Given the description of an element on the screen output the (x, y) to click on. 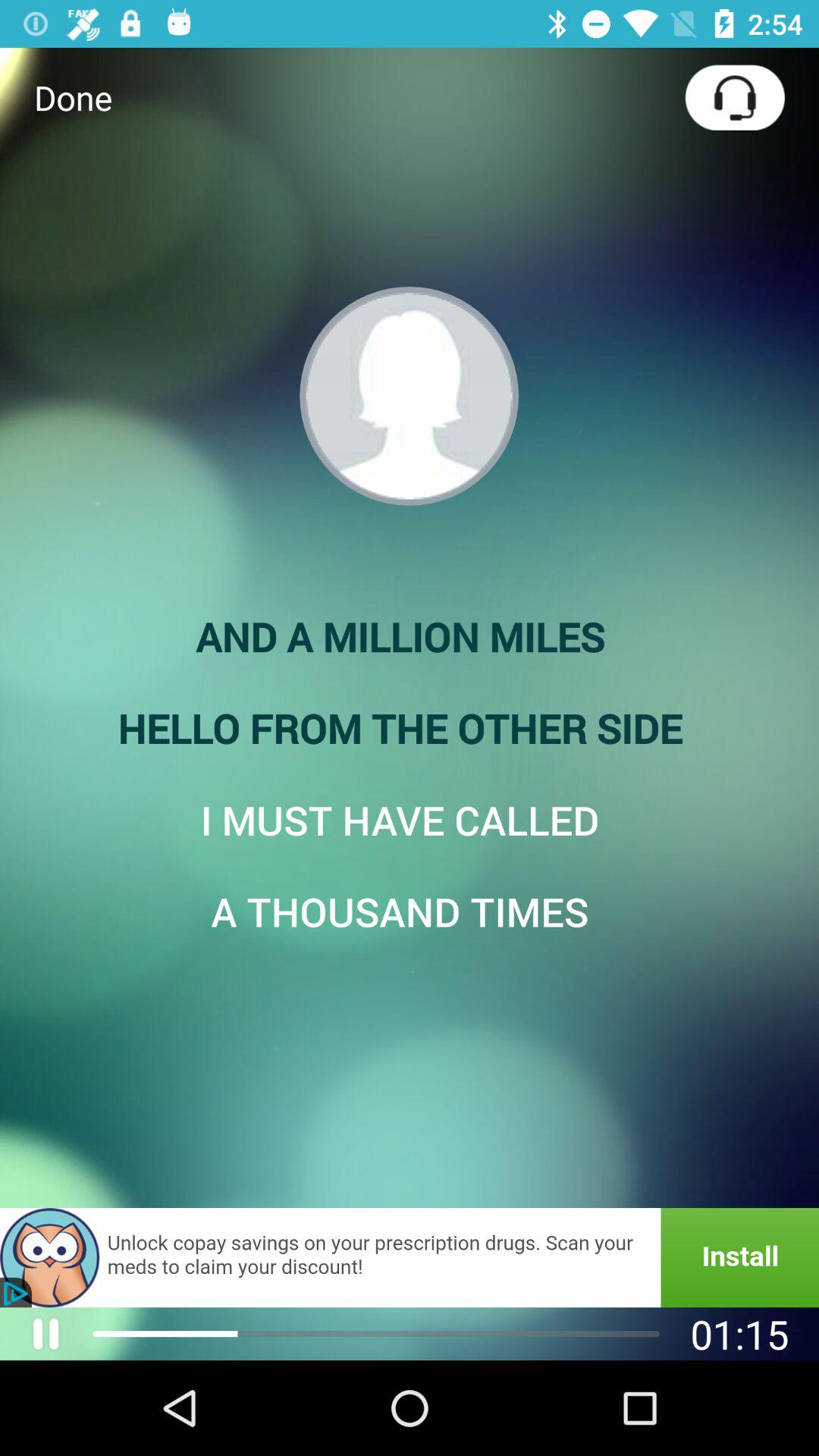
choose the icon to the right of the done app (734, 97)
